Given the description of an element on the screen output the (x, y) to click on. 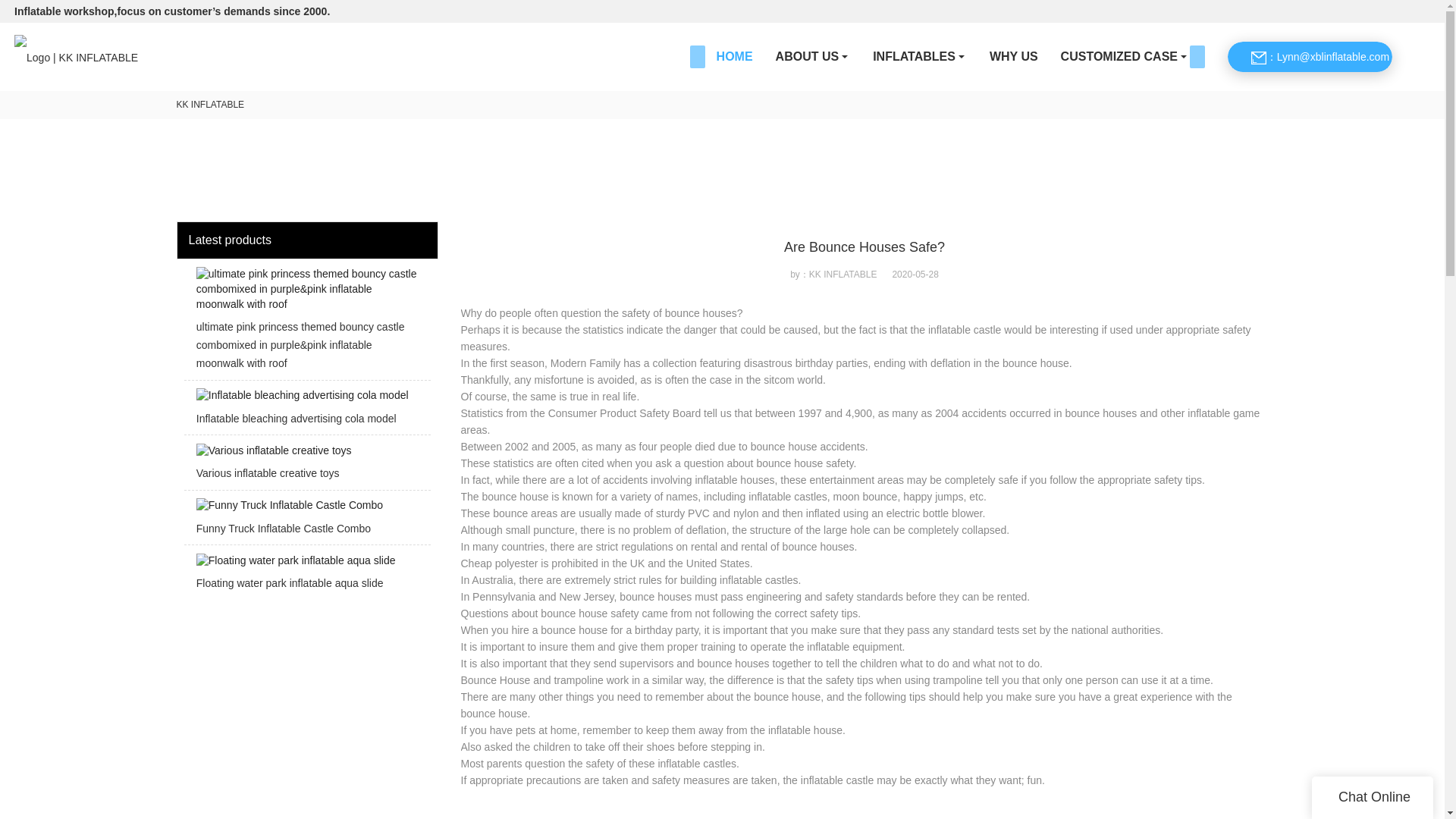
ABOUT US (812, 56)
CUSTOMIZED CASE (1124, 56)
INFLATABLES (919, 56)
WHY US (1013, 56)
KK INFLATABLE (210, 104)
